Given the description of an element on the screen output the (x, y) to click on. 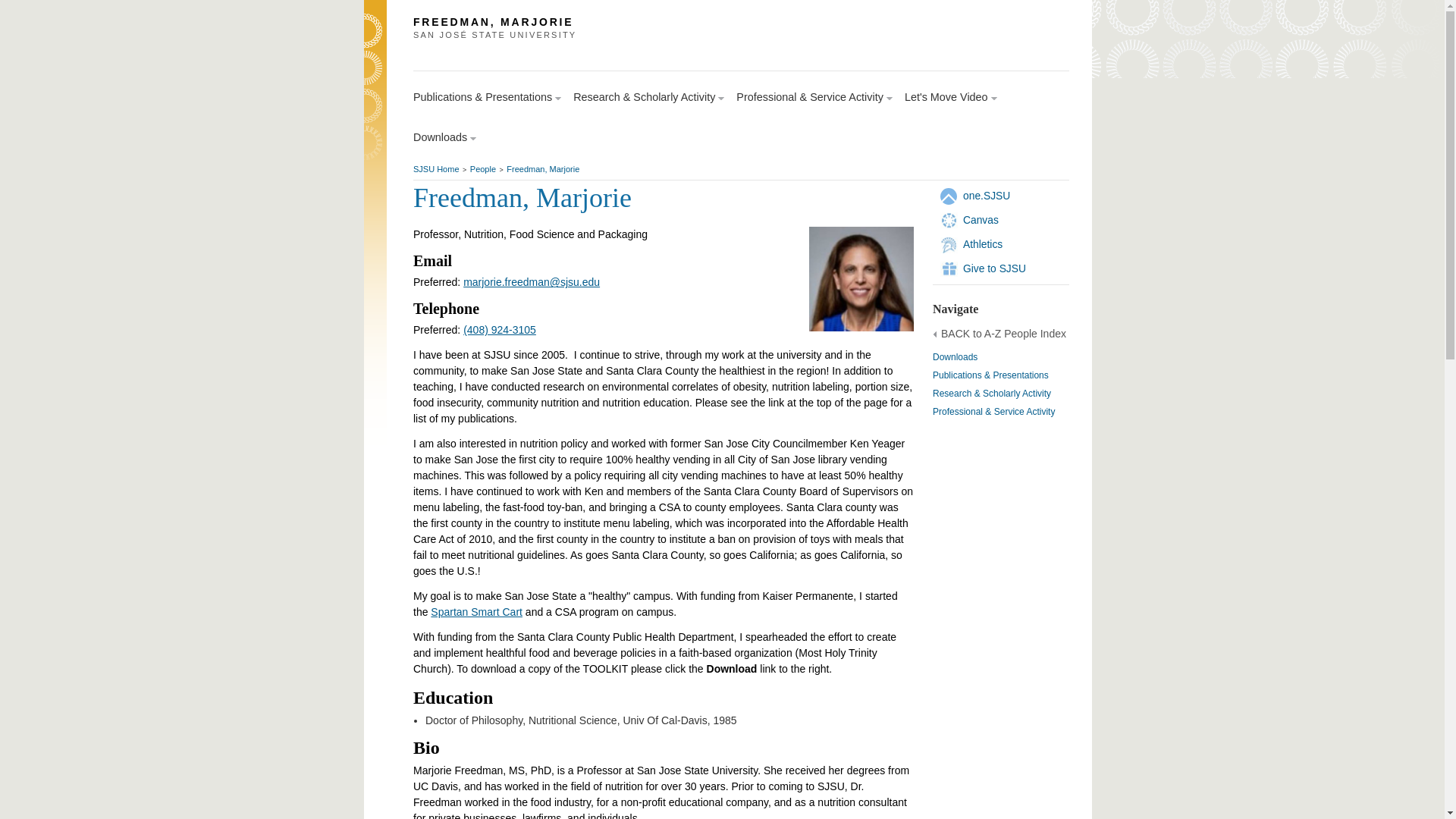
Give to SJSU (994, 268)
SJSU Home (950, 97)
Canvas (436, 168)
BACK to A-Z People Index (980, 219)
People (1002, 334)
Athletics (483, 168)
downloads (982, 244)
Freedman, Marjorie (954, 357)
Spartan Smart Cart (542, 168)
